Given the description of an element on the screen output the (x, y) to click on. 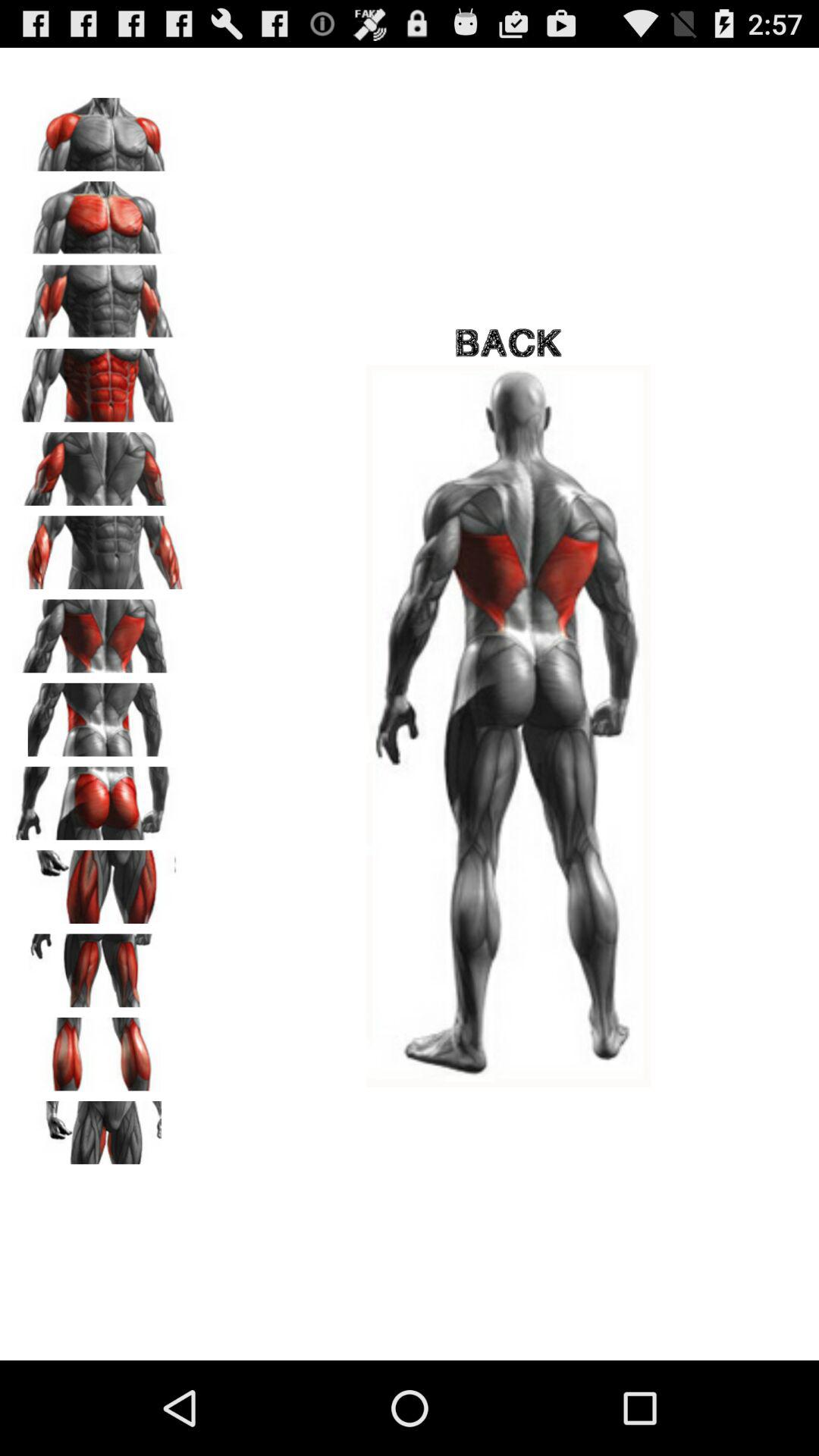
click to see thigh structure (99, 965)
